Given the description of an element on the screen output the (x, y) to click on. 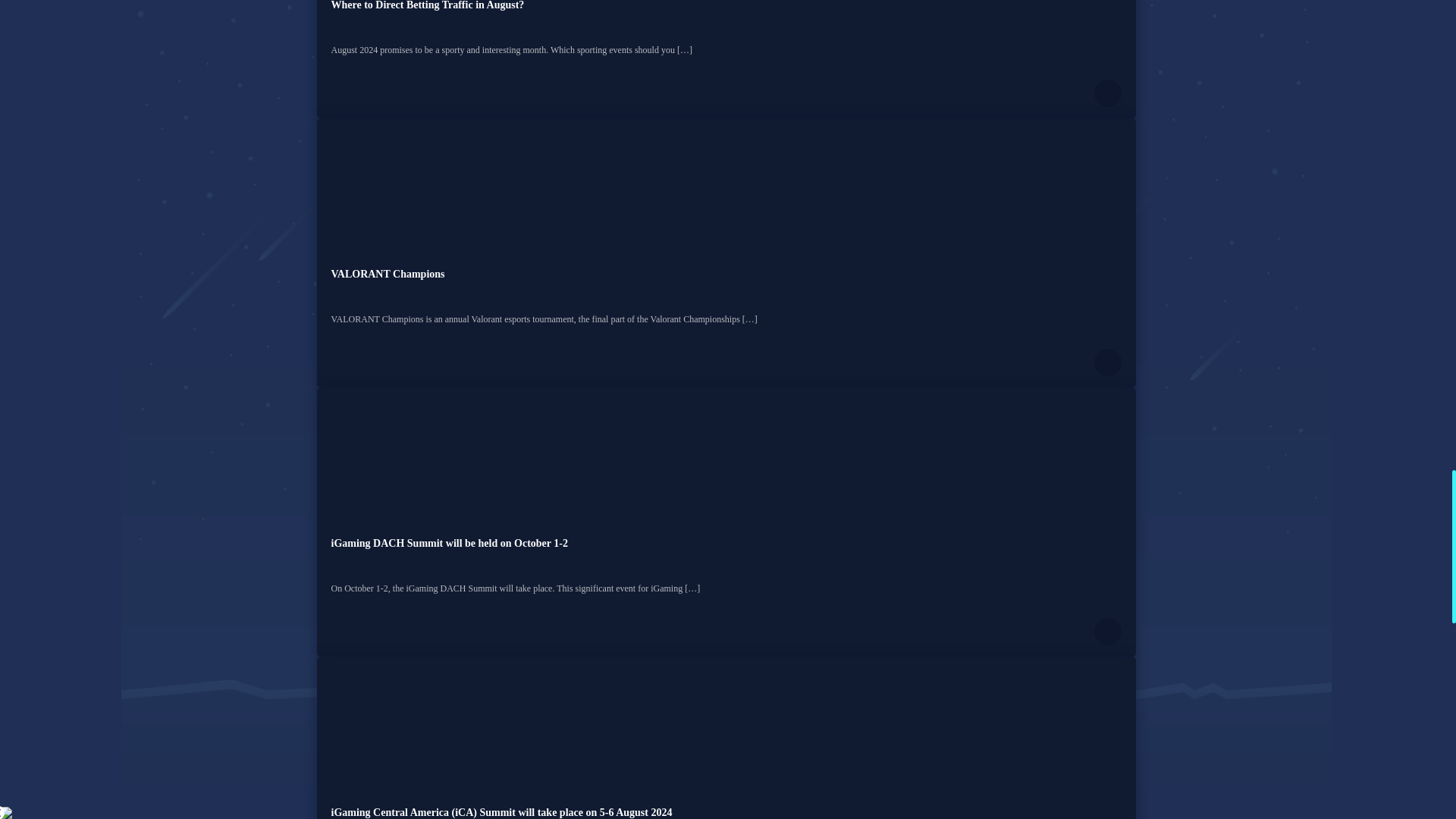
Where to Direct Betting Traffic in August? (427, 5)
VALORANT Champions (387, 274)
